Given the description of an element on the screen output the (x, y) to click on. 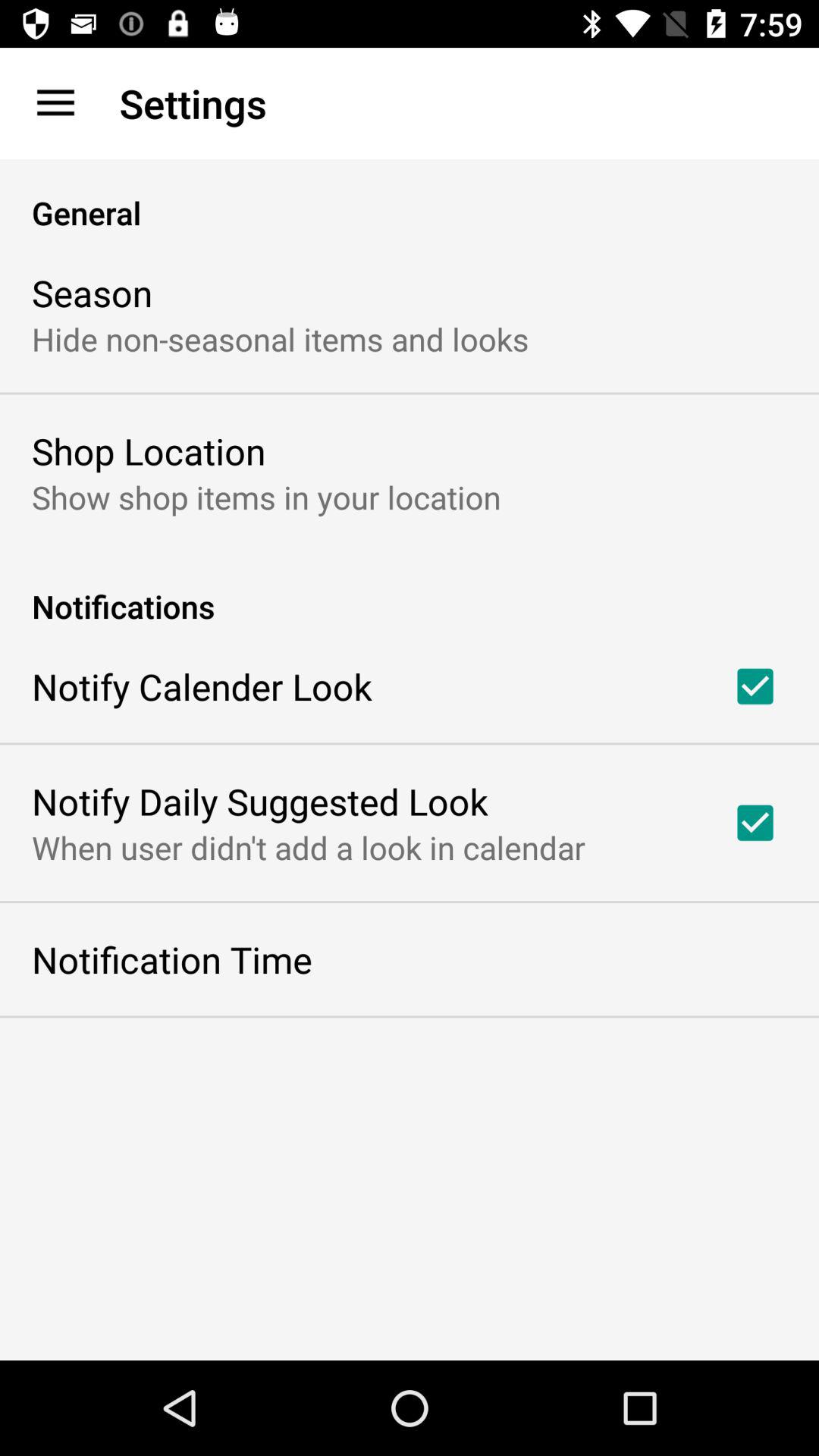
scroll until show shop items item (266, 496)
